Given the description of an element on the screen output the (x, y) to click on. 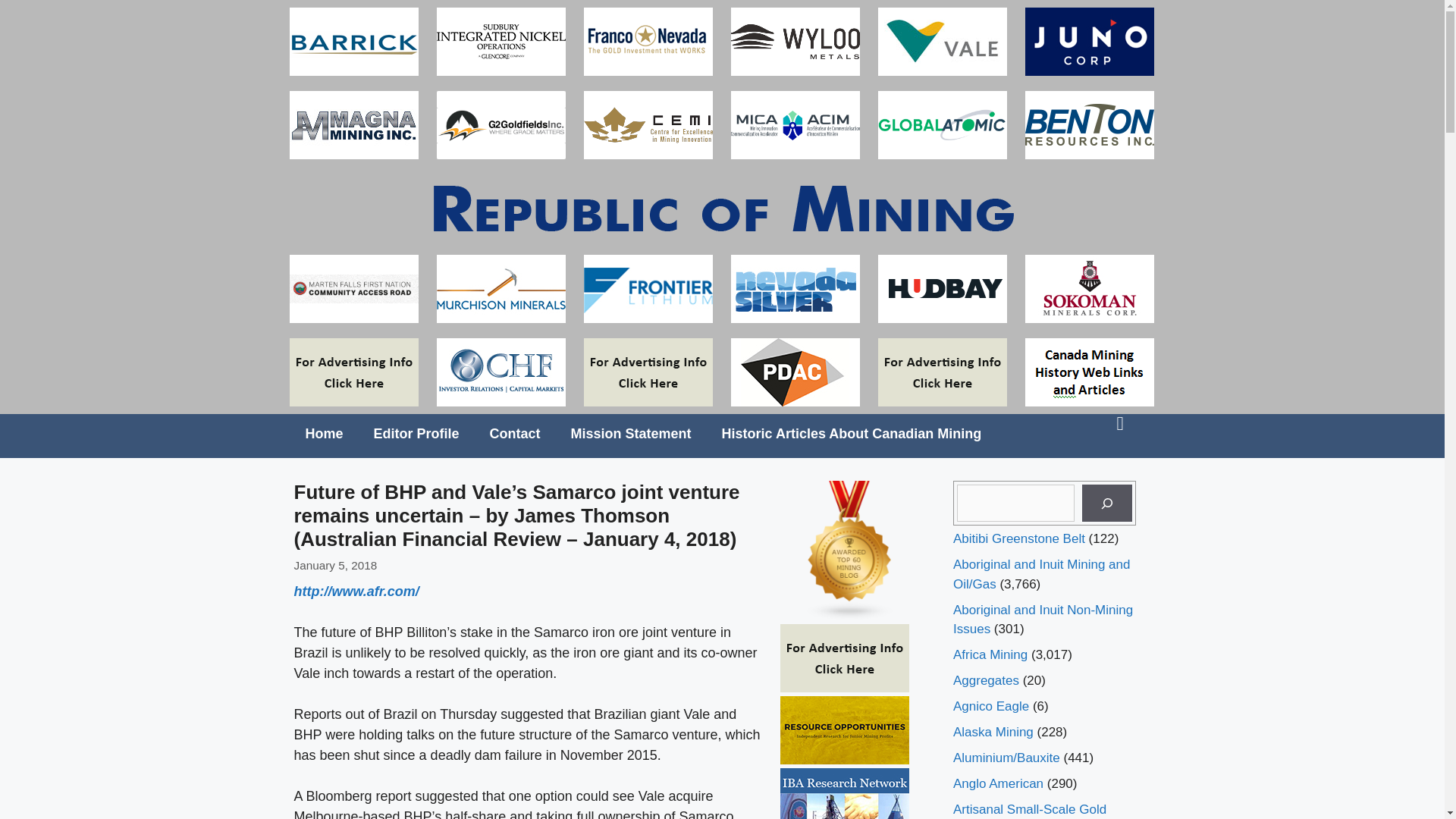
Home (323, 433)
Editor Profile (416, 433)
Historic Articles About Canadian Mining (851, 433)
Mission Statement (631, 433)
Contact (515, 433)
